Given the description of an element on the screen output the (x, y) to click on. 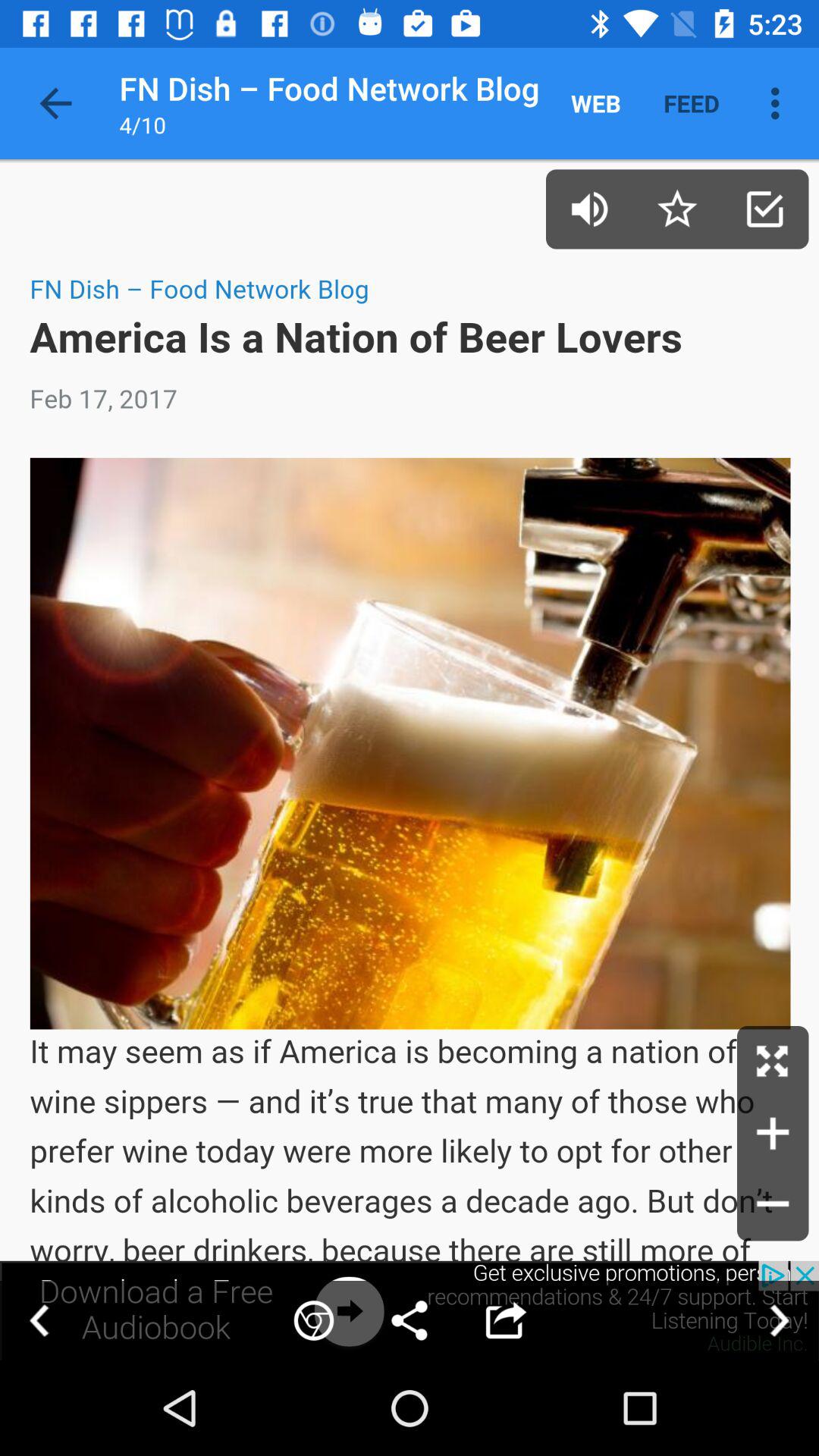
zoom out (772, 1205)
